Given the description of an element on the screen output the (x, y) to click on. 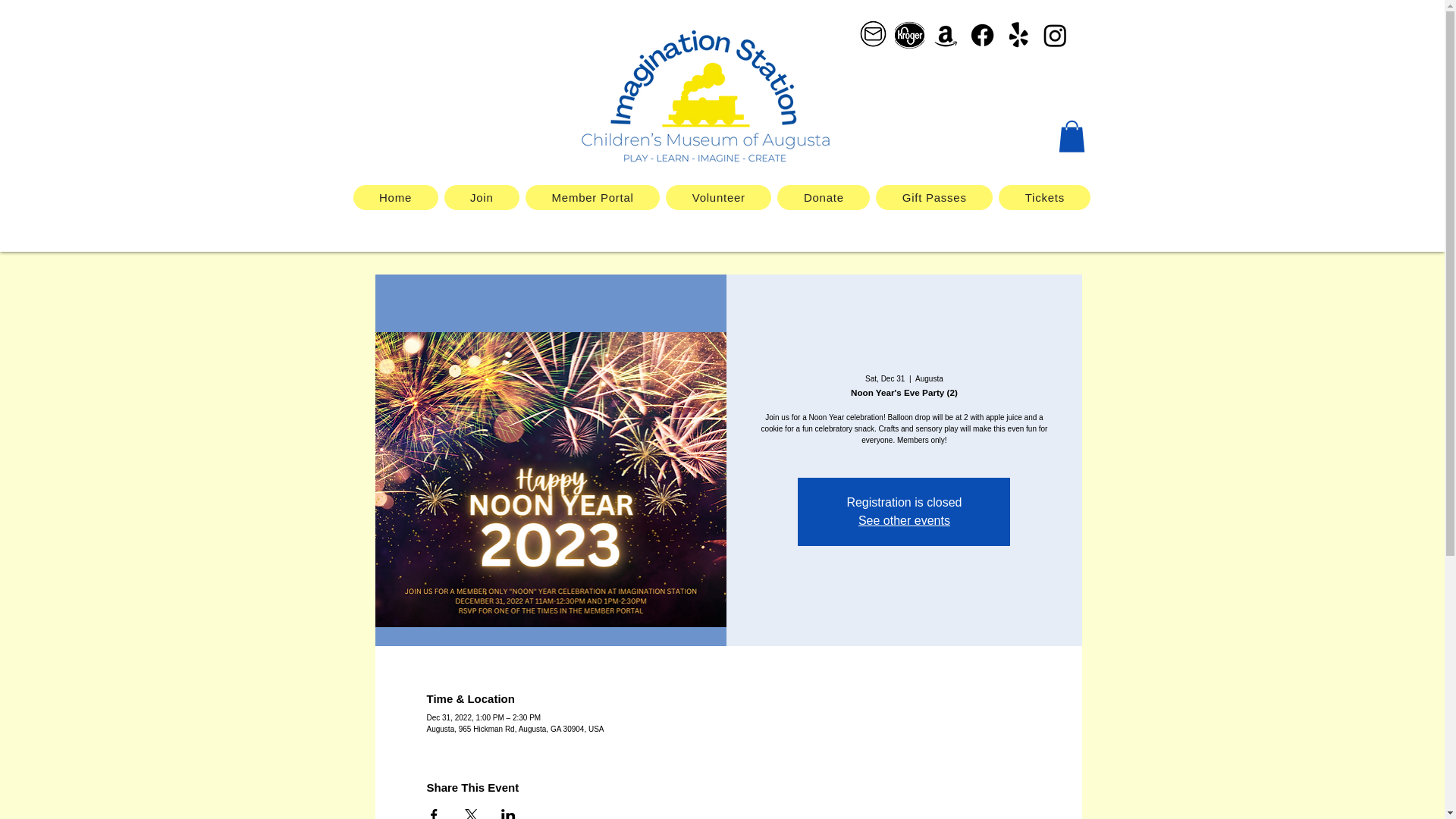
Join (481, 197)
See other events (904, 520)
Home (395, 197)
Member Portal (592, 197)
Donate (823, 197)
Volunteer (718, 197)
Tickets (1044, 197)
Gift Passes (934, 197)
